Given the description of an element on the screen output the (x, y) to click on. 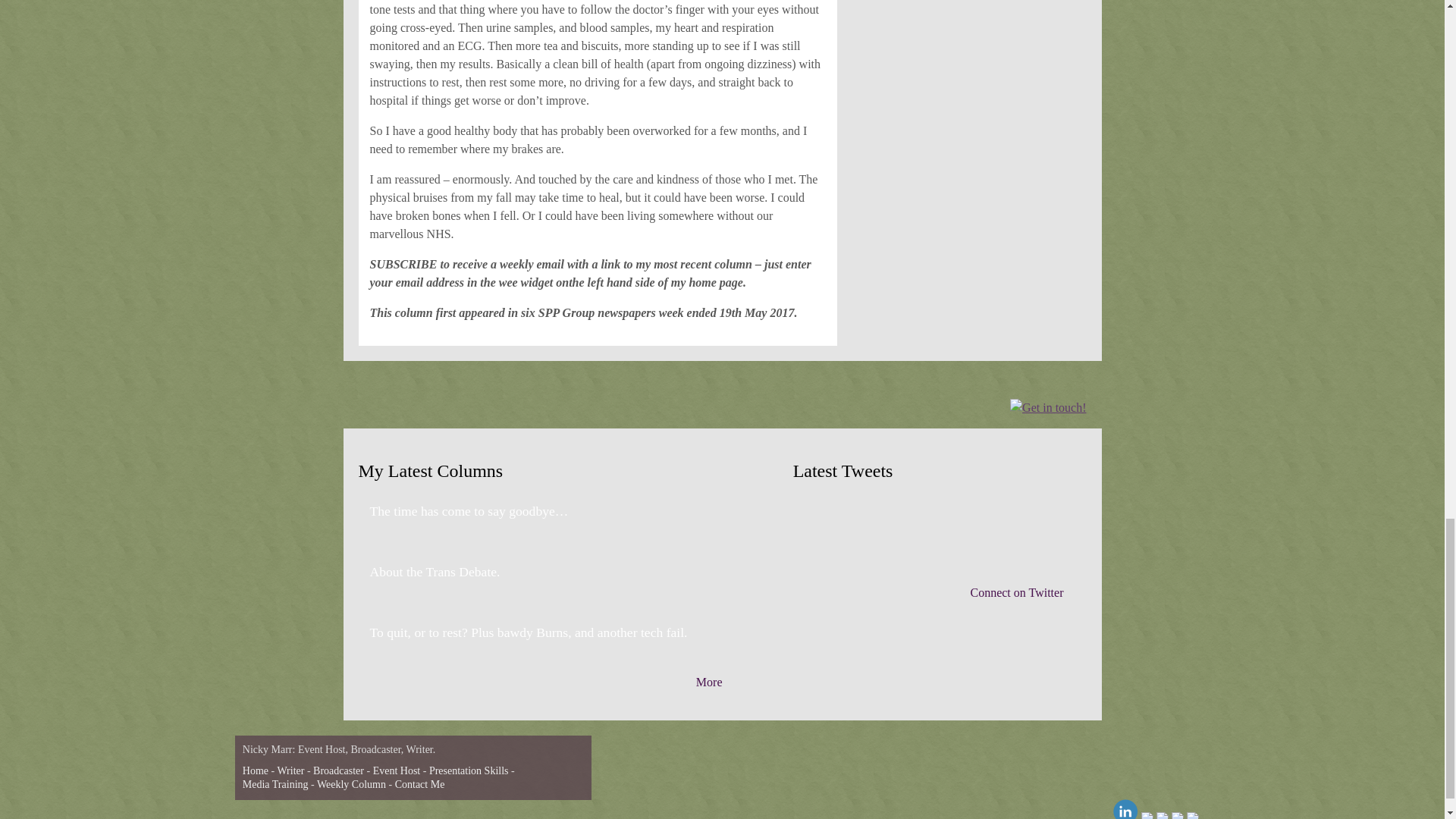
Presentation Skills (468, 770)
Home (255, 770)
Writer (290, 770)
Weekly Column (351, 784)
Media Training (275, 784)
Connect on Twitter (1015, 592)
About the Trans Debate. (434, 571)
Event Host (396, 770)
